Given the description of an element on the screen output the (x, y) to click on. 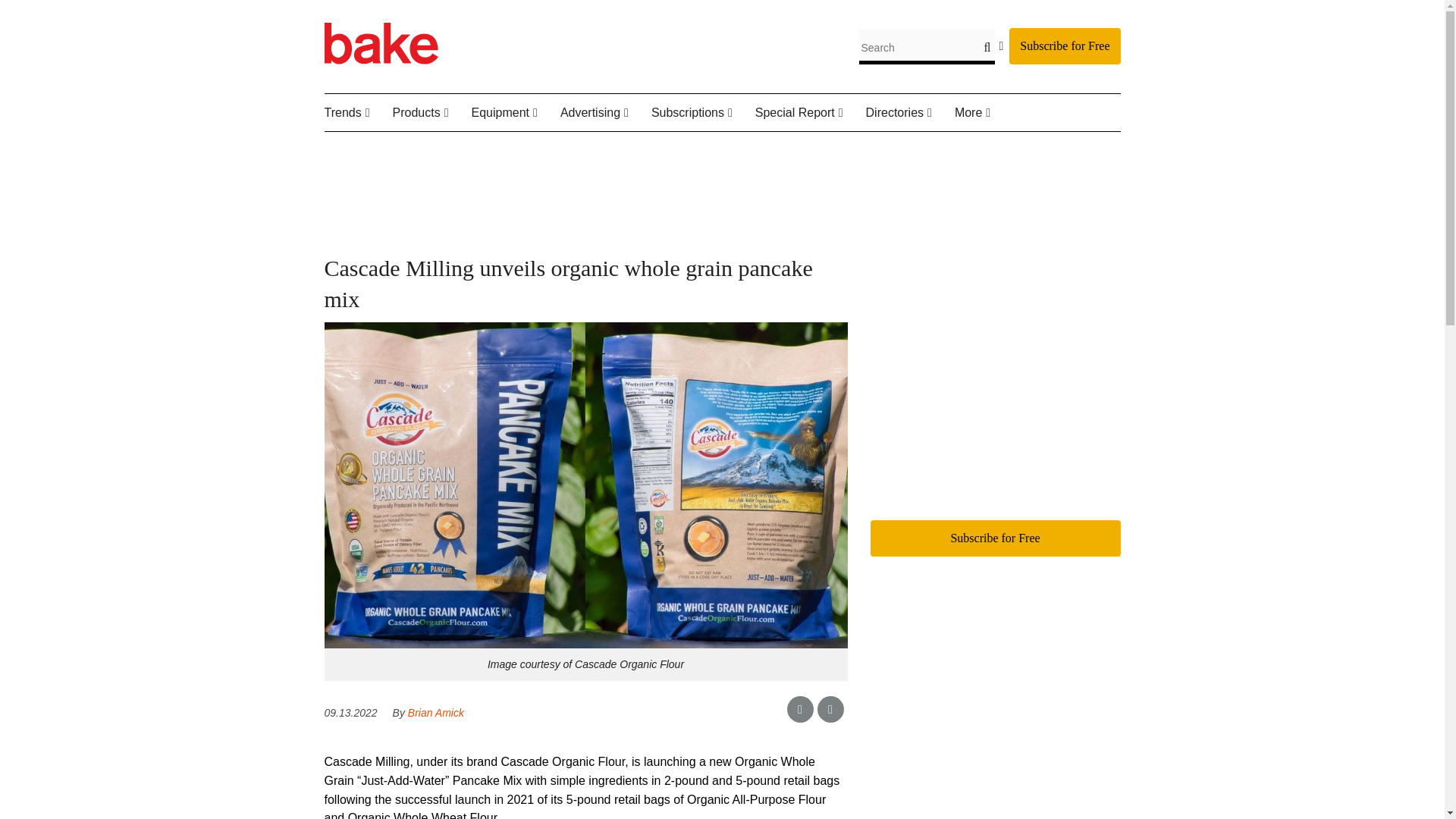
Products (432, 113)
Merchandising (560, 148)
Workforce (411, 148)
Subscriptions (702, 113)
Sweet Goods (475, 148)
Production (547, 148)
Consumer Insights (416, 148)
Chocolate (491, 148)
Trends (358, 113)
Breads (468, 148)
